Given the description of an element on the screen output the (x, y) to click on. 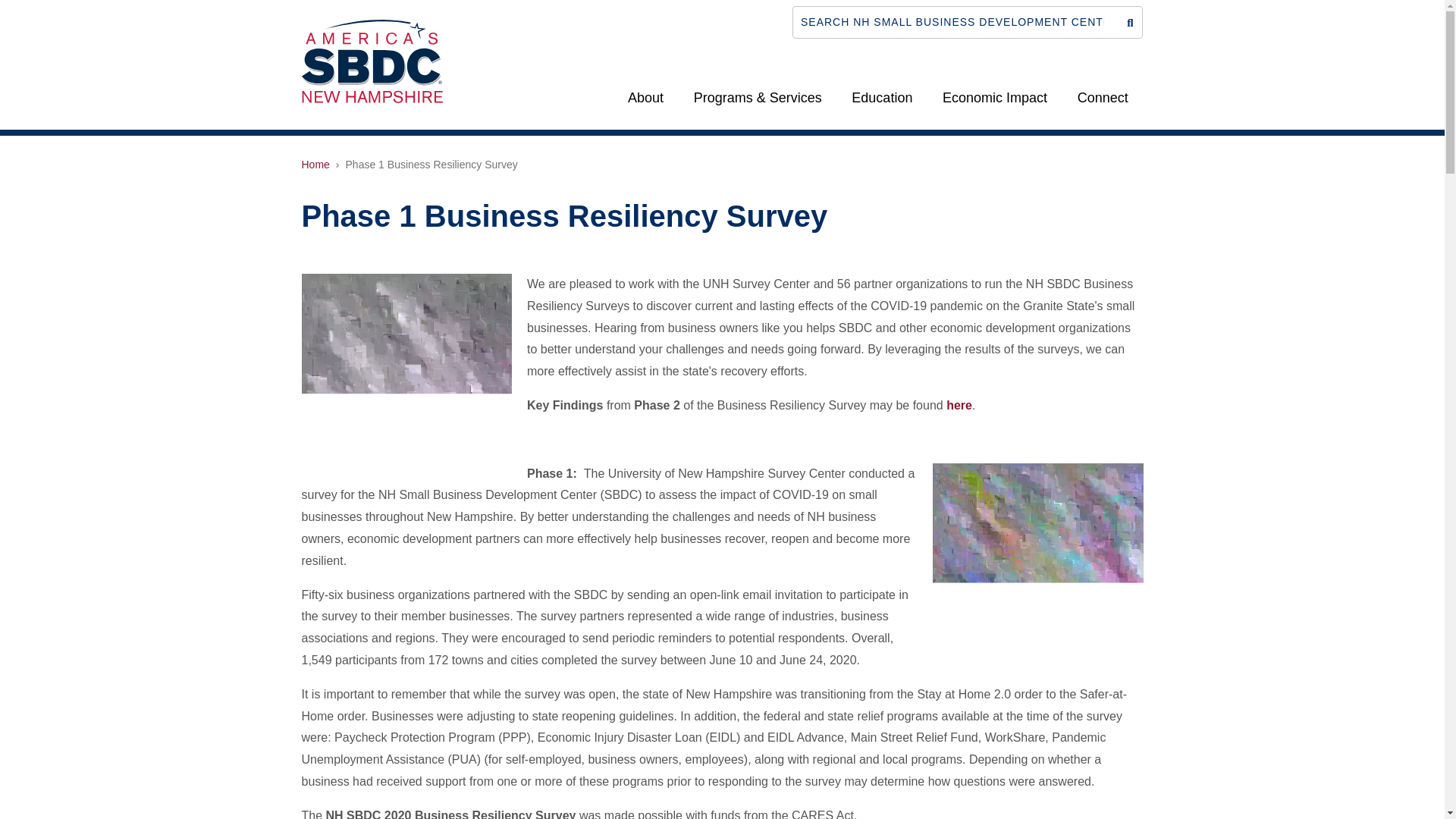
Enter the terms you wish to search for. (954, 21)
NH Small Business Development Center (371, 61)
Economic Impact (994, 97)
About (645, 97)
Home (315, 164)
here (959, 404)
Connect (1102, 97)
Education (882, 97)
NH Small Business Development Center (371, 60)
